Given the description of an element on the screen output the (x, y) to click on. 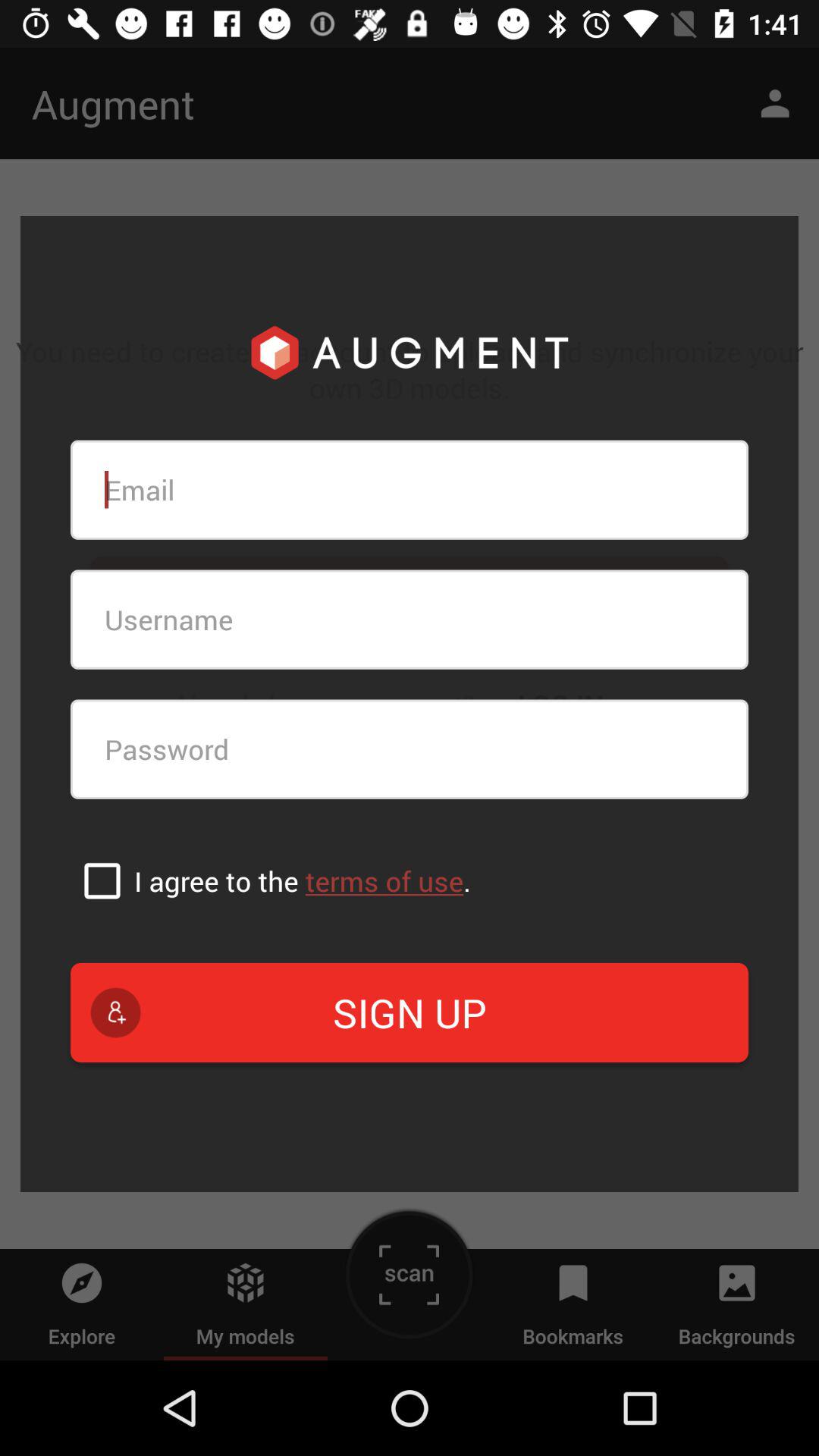
select icon to the left of i agree to (102, 880)
